Given the description of an element on the screen output the (x, y) to click on. 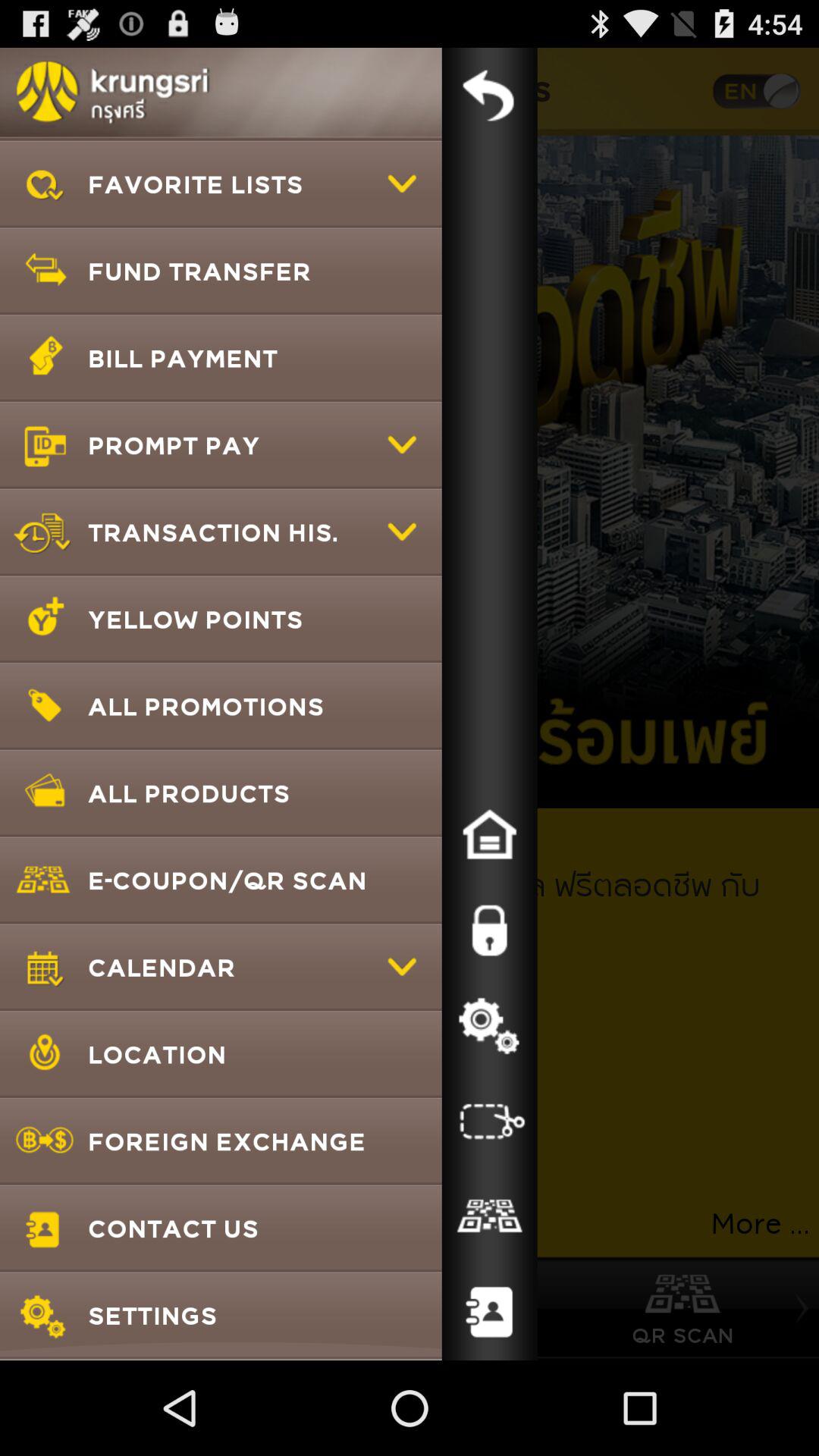
unlock calendar option (489, 930)
